Given the description of an element on the screen output the (x, y) to click on. 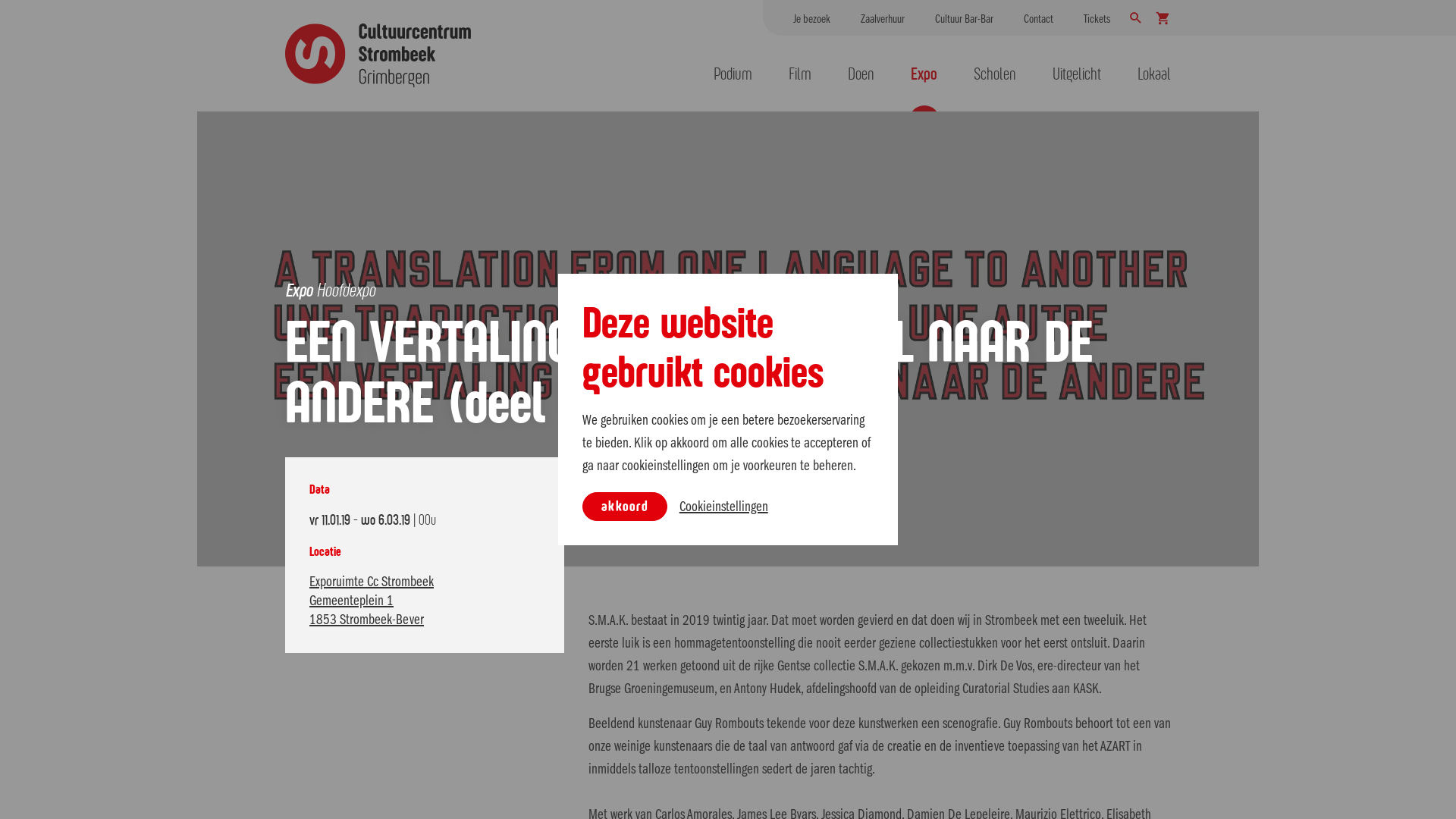
Scholen Element type: text (994, 73)
Je bezoek Element type: text (811, 18)
Podium Element type: text (732, 73)
Zaalverhuur Element type: text (882, 18)
Zoeken Element type: text (1135, 17)
Film Element type: text (799, 73)
Contact Element type: text (1038, 18)
Cultuur Bar-Bar Element type: text (964, 18)
Exporuimte Cc Strombeek
Gemeenteplein 1
1853 Strombeek-Bever Element type: text (424, 599)
Doen Element type: text (860, 73)
Expo Element type: text (923, 73)
Winkelmandje Element type: text (1162, 17)
Cookieinstellingen Element type: text (723, 506)
Lokaal Element type: text (1153, 73)
Tickets Element type: text (1096, 18)
akkoord Element type: text (624, 506)
Uitgelicht Element type: text (1076, 73)
